Given the description of an element on the screen output the (x, y) to click on. 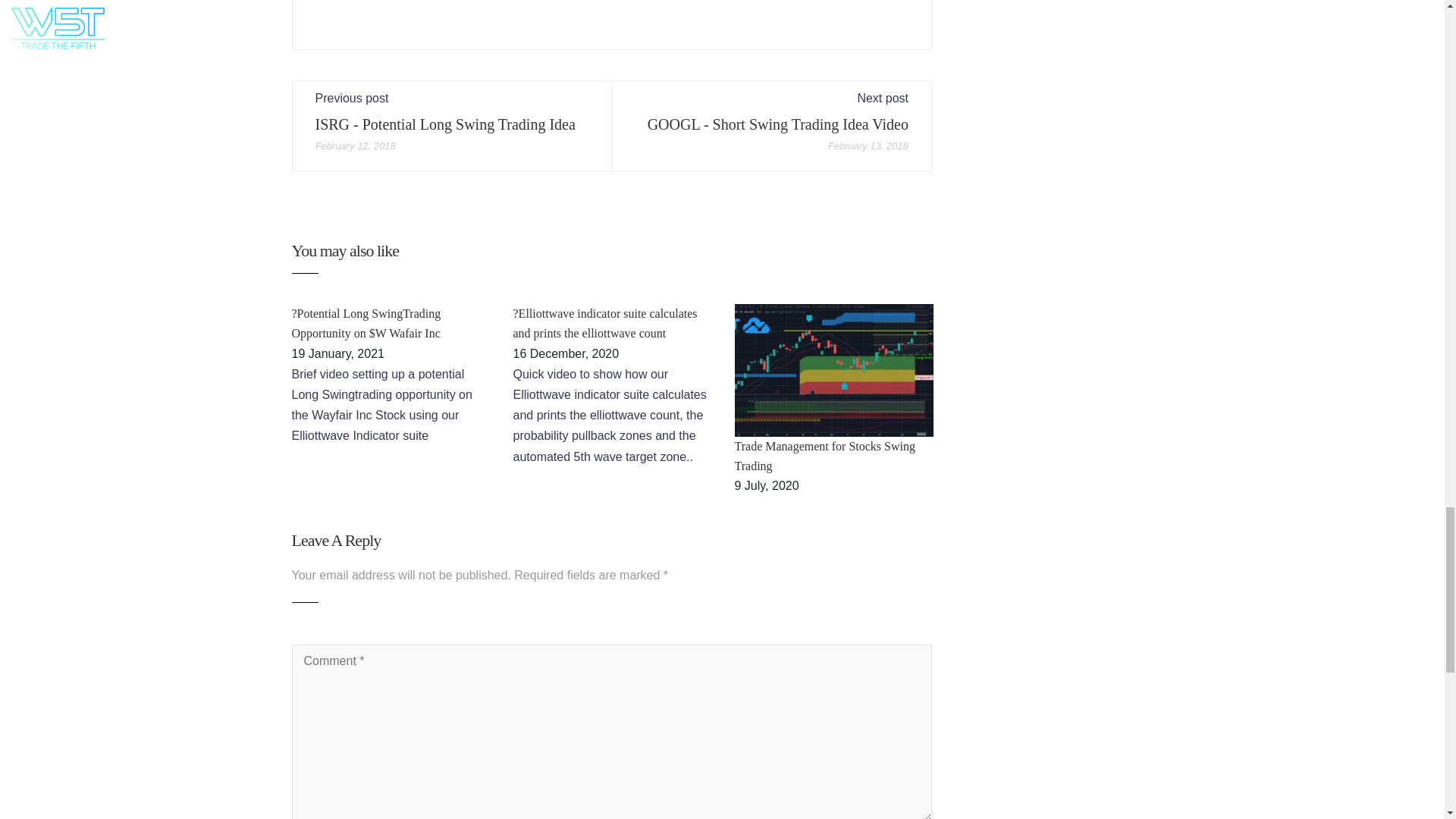
Stocks Swing Trading Chart (833, 369)
Trade Management for Stocks Swing Trading (824, 455)
